Given the description of an element on the screen output the (x, y) to click on. 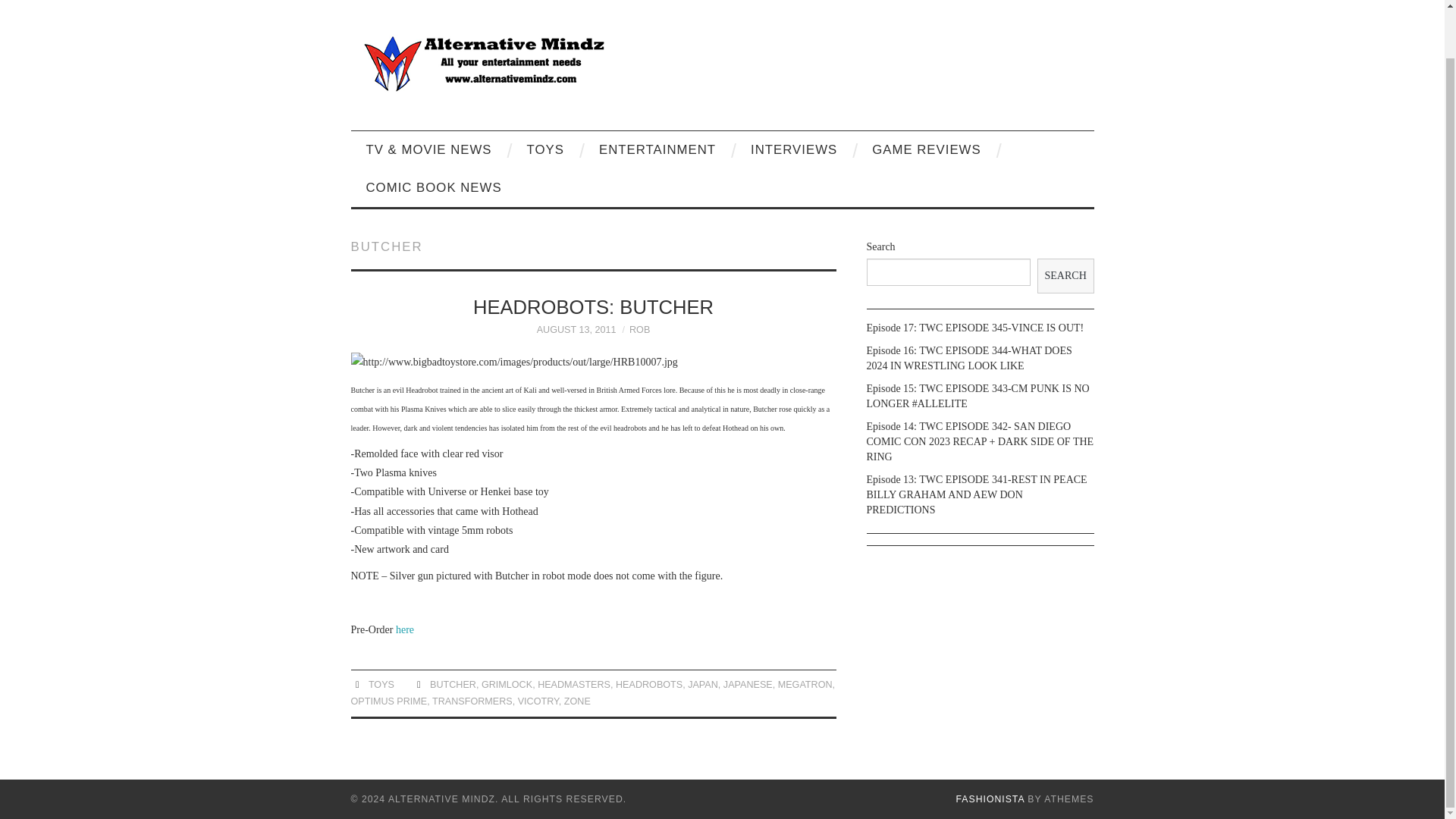
GAME REVIEWS (926, 149)
OPTIMUS PRIME (388, 701)
HEADMASTERS (573, 684)
JAPANESE (748, 684)
FASHIONISTA (990, 798)
TOYS (381, 684)
JAPAN (702, 684)
GRIMLOCK (506, 684)
Alternative Mindz (482, 60)
